Given the description of an element on the screen output the (x, y) to click on. 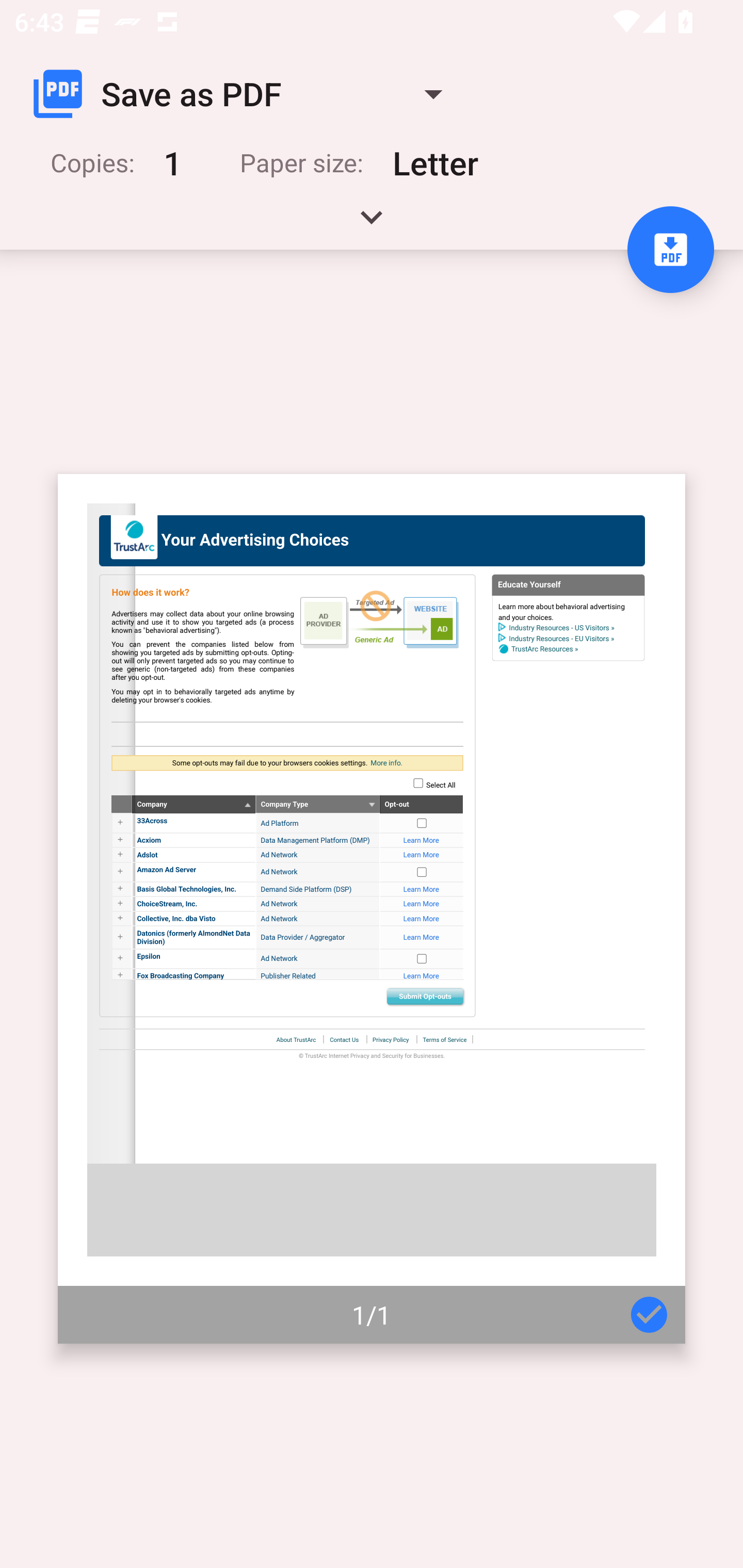
Save as PDF (245, 93)
Expand handle (371, 224)
Save to PDF (670, 249)
Page 1 of 1 1/1 (371, 908)
